Given the description of an element on the screen output the (x, y) to click on. 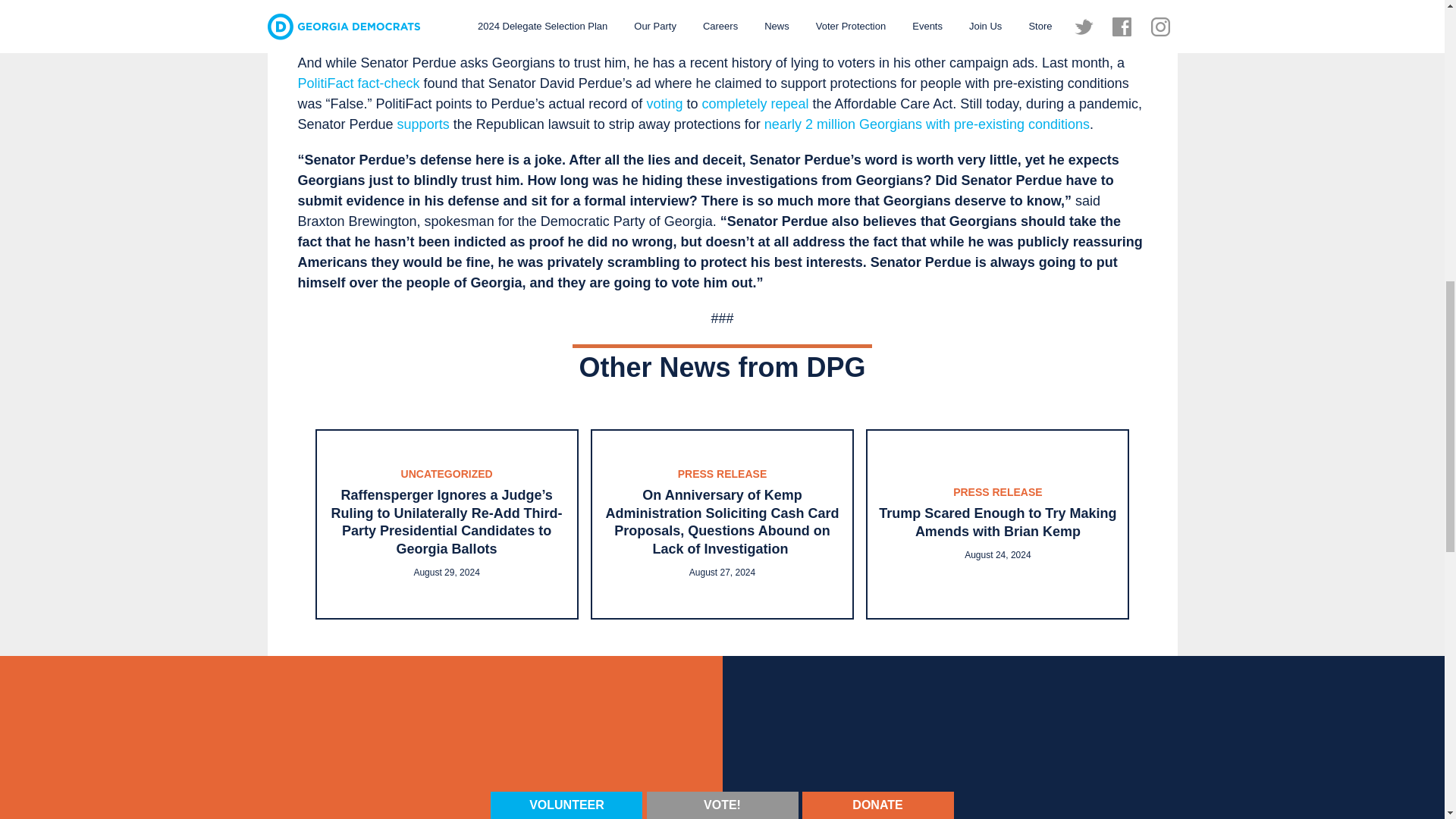
completely repeal (754, 103)
downplayed the crisis (1066, 7)
nearly 2 million Georgians with pre-existing conditions (926, 124)
voting (664, 103)
supports (423, 124)
PolitiFact fact-check (358, 83)
